Given the description of an element on the screen output the (x, y) to click on. 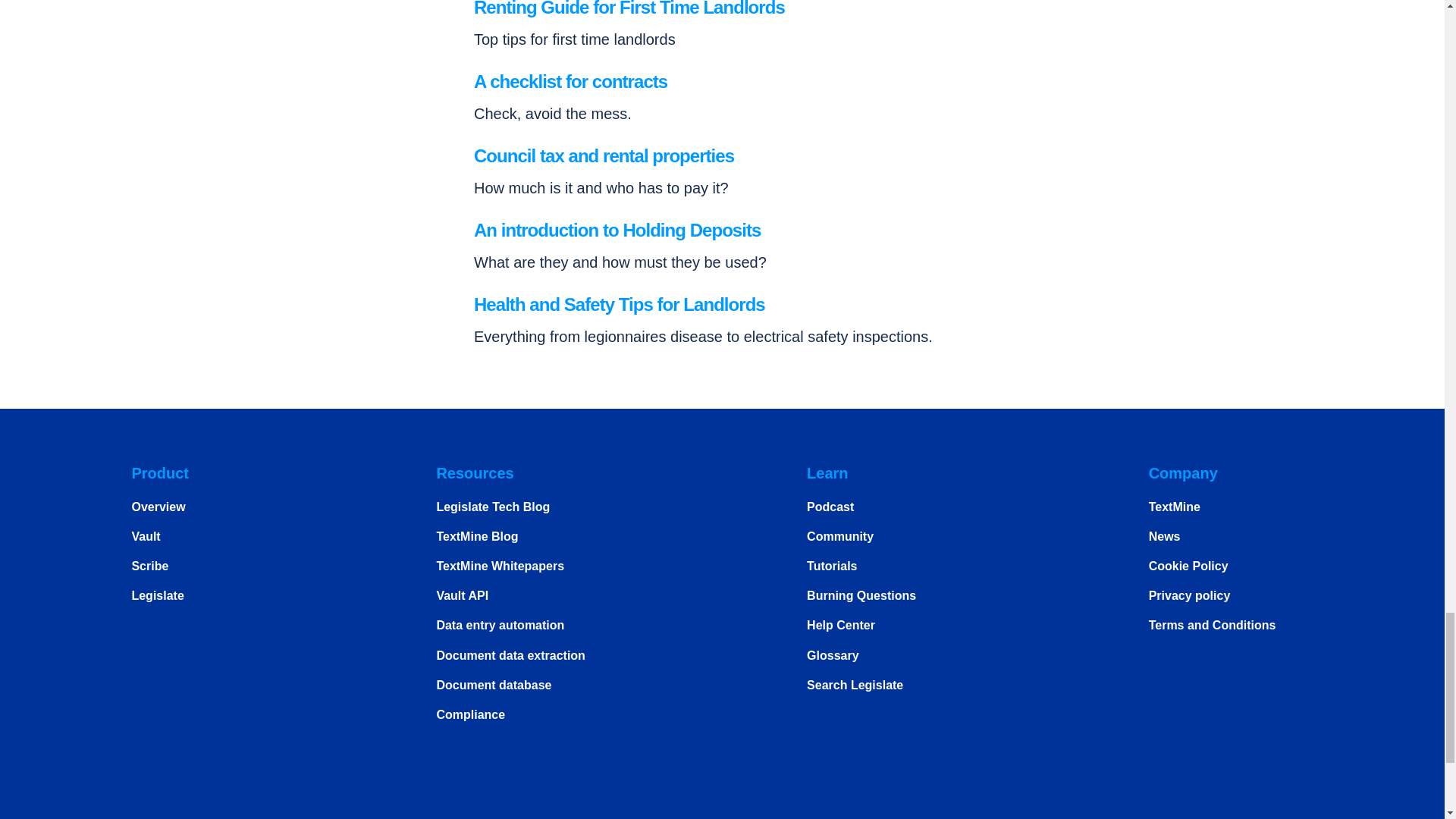
Vault (145, 536)
Scribe (149, 565)
Overview (157, 506)
